Given the description of an element on the screen output the (x, y) to click on. 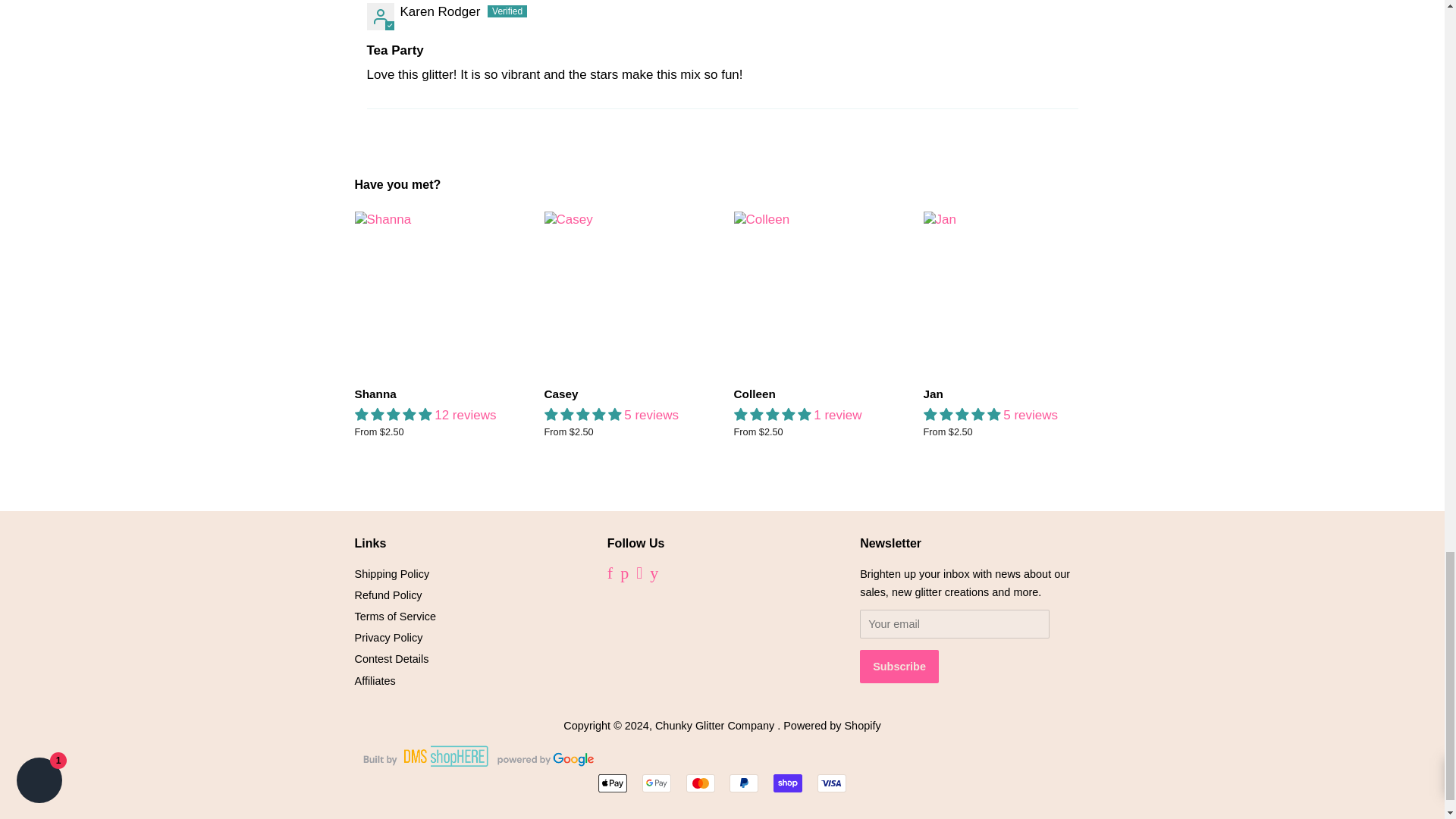
Apple Pay (612, 782)
Visa (830, 782)
Mastercard (699, 782)
Google Pay (656, 782)
PayPal (743, 782)
Shop Pay (787, 782)
Subscribe (899, 666)
